Given the description of an element on the screen output the (x, y) to click on. 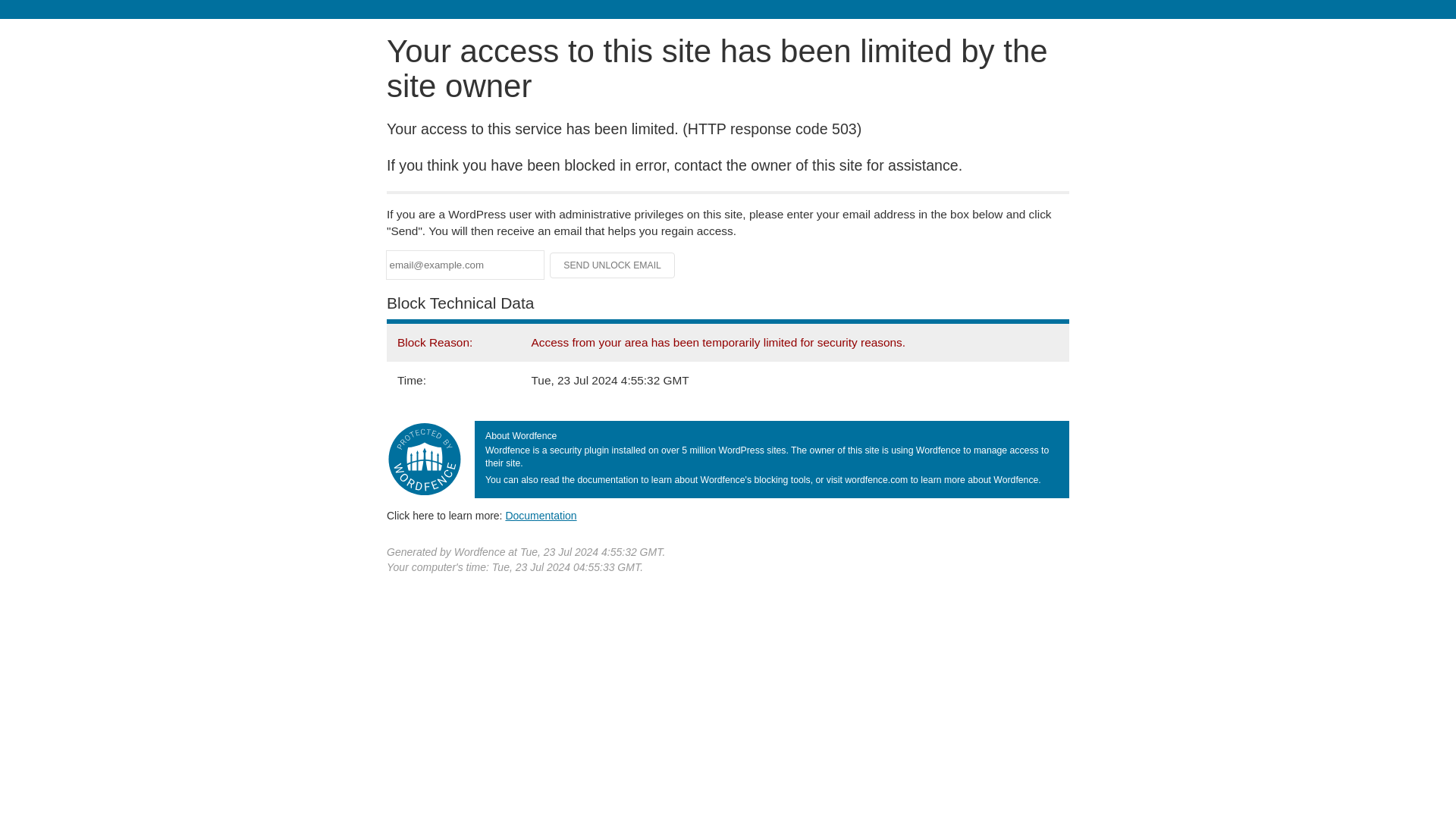
Send Unlock Email (612, 265)
Send Unlock Email (612, 265)
Documentation (540, 515)
